Given the description of an element on the screen output the (x, y) to click on. 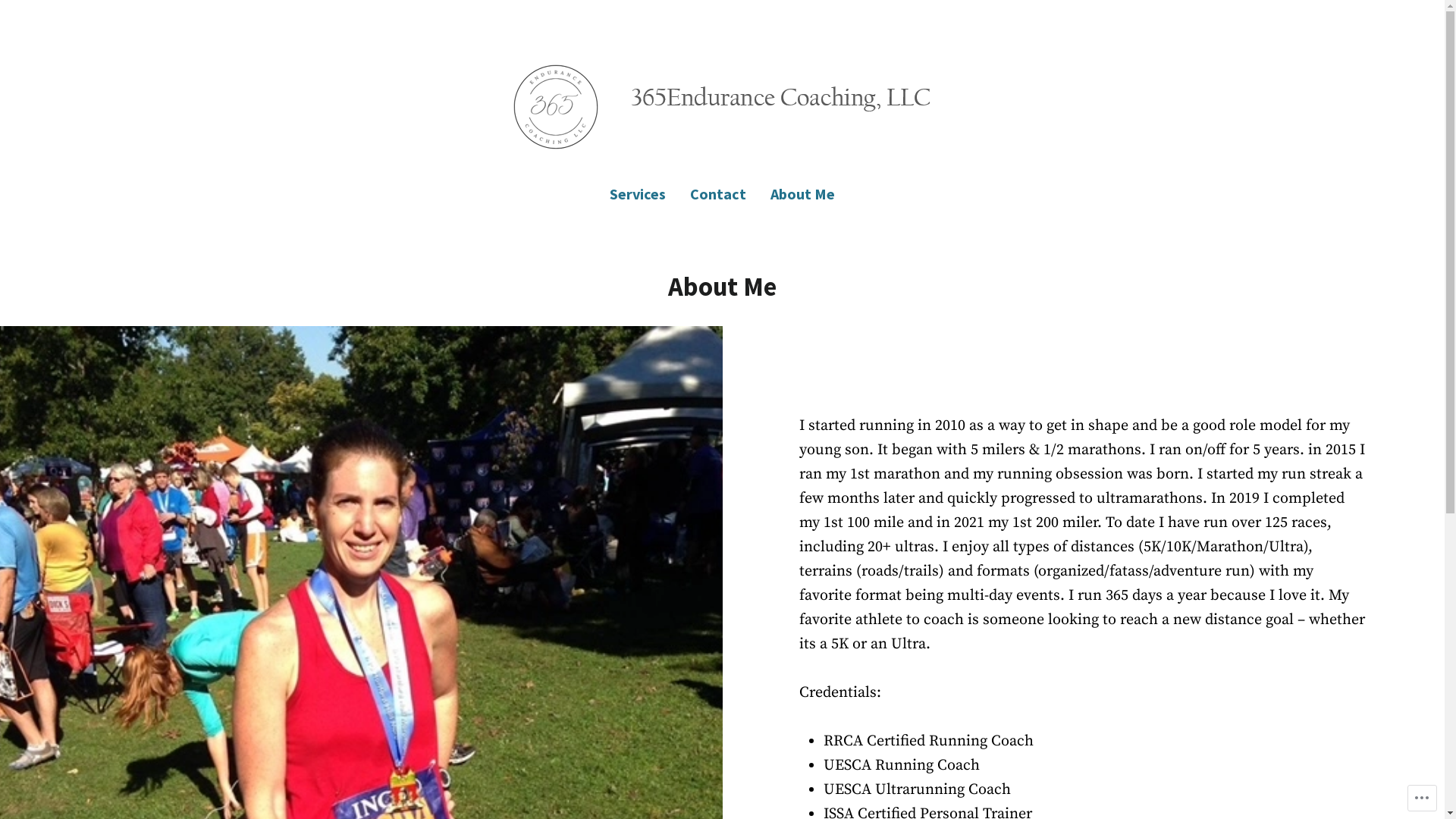
About Me Element type: text (796, 193)
Services Element type: text (643, 193)
Contact Element type: text (717, 193)
